Given the description of an element on the screen output the (x, y) to click on. 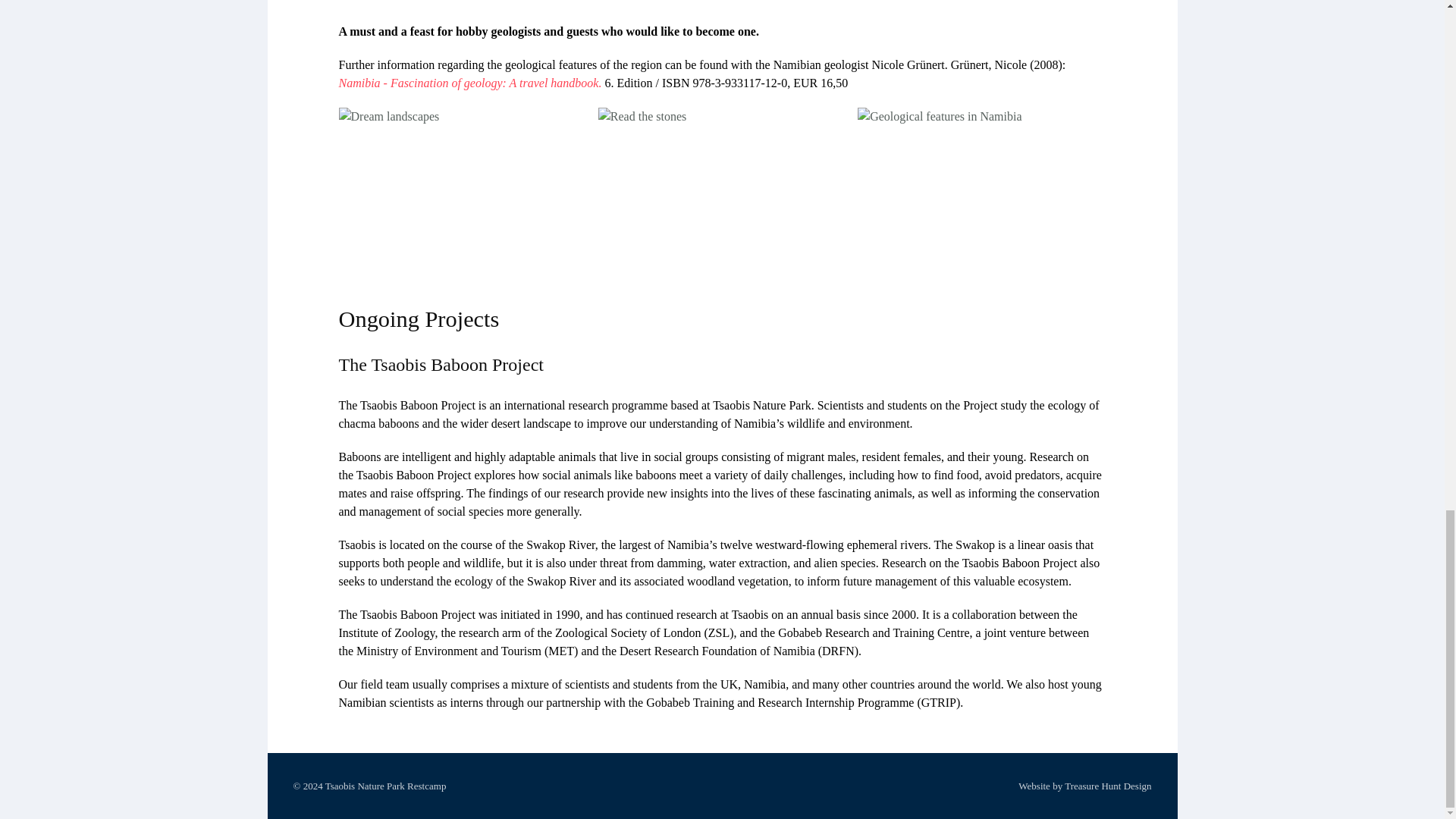
Treasure Hunt Design (1107, 785)
Treasure hunt Design Namibia (1107, 785)
